Given the description of an element on the screen output the (x, y) to click on. 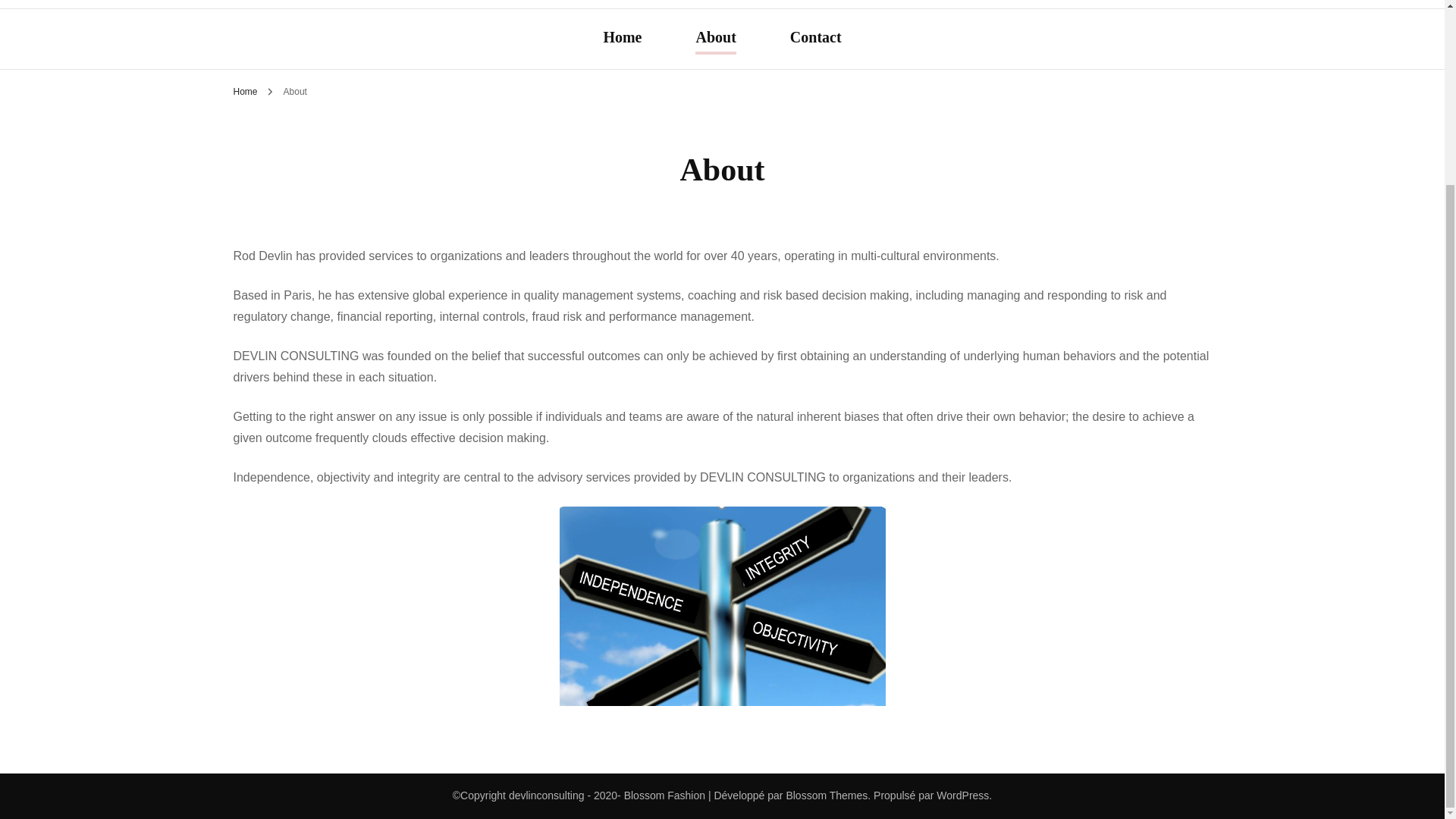
About (295, 91)
Home (622, 38)
Blossom Themes (825, 795)
About (715, 38)
WordPress (962, 795)
Home (244, 91)
Contact (815, 38)
